Given the description of an element on the screen output the (x, y) to click on. 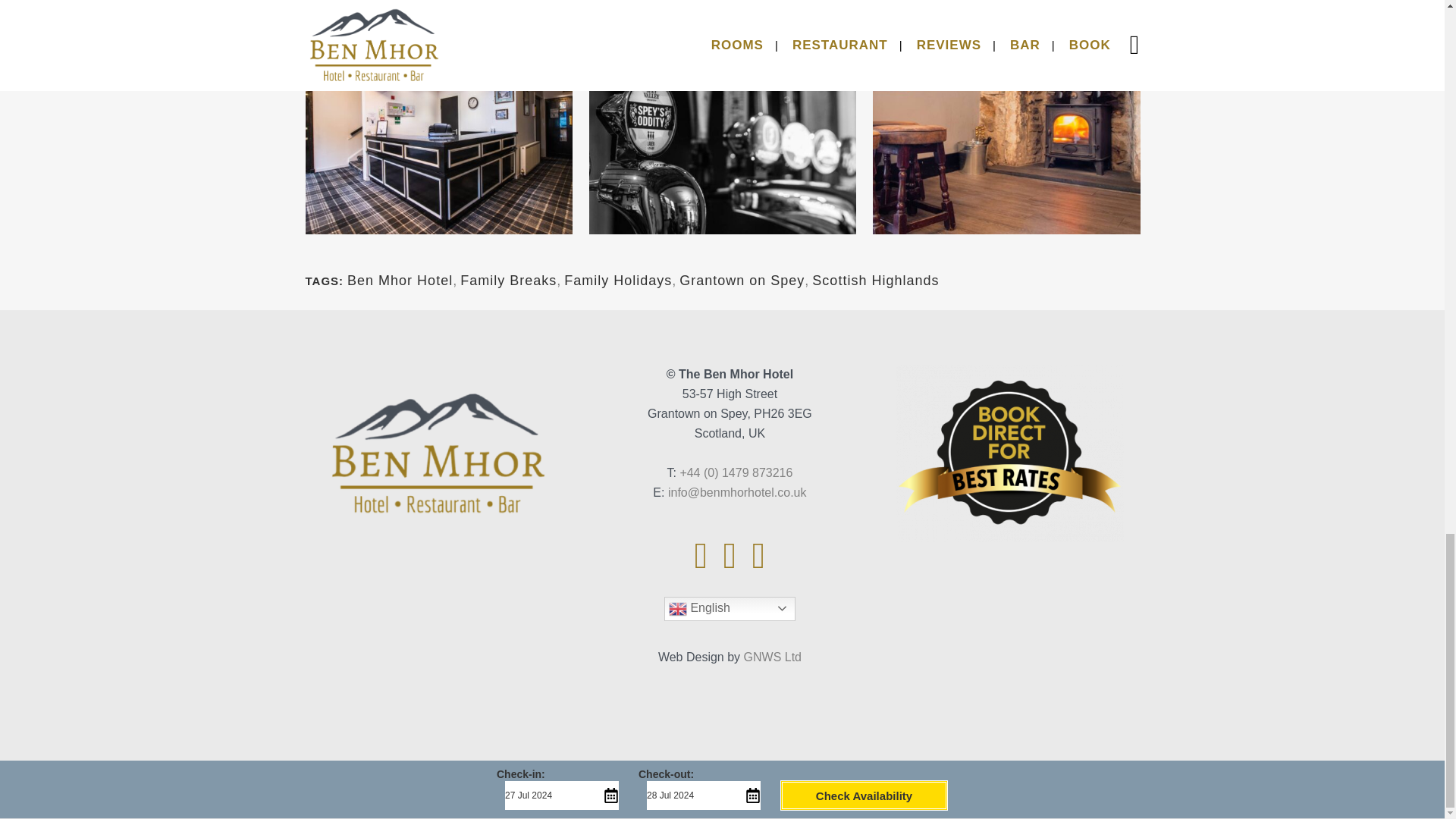
Ben Mhor Hotel (399, 280)
Family Breaks (508, 280)
bar2 (438, 2)
bar5 (722, 127)
Grantown on Spey (742, 280)
Hotel Reception (438, 127)
bar9 (1006, 2)
bar4 (1006, 127)
Family Holidays (617, 280)
The Ben Mhor Bar (722, 2)
